Given the description of an element on the screen output the (x, y) to click on. 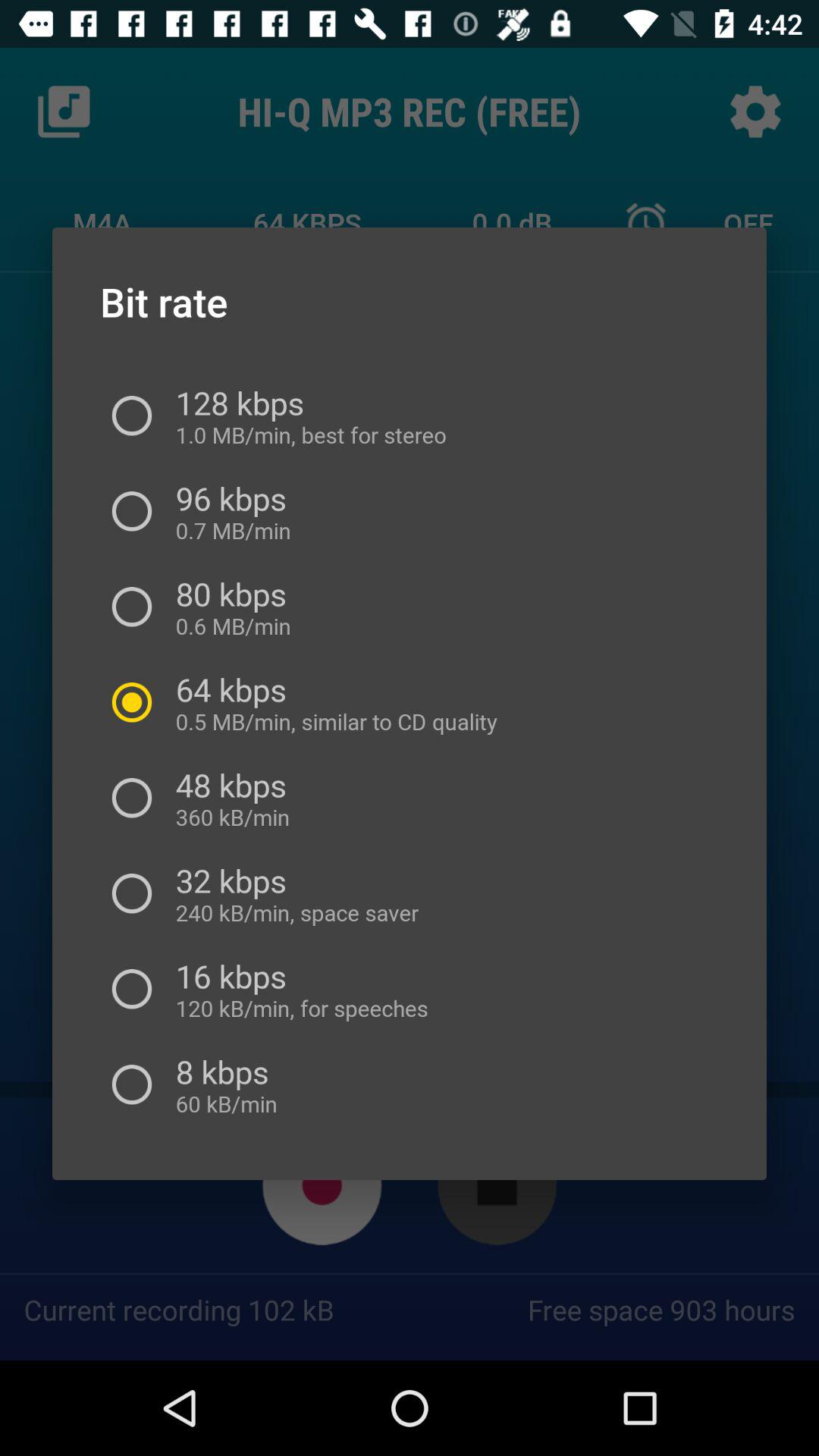
scroll to 128 kbps 1 (304, 415)
